Given the description of an element on the screen output the (x, y) to click on. 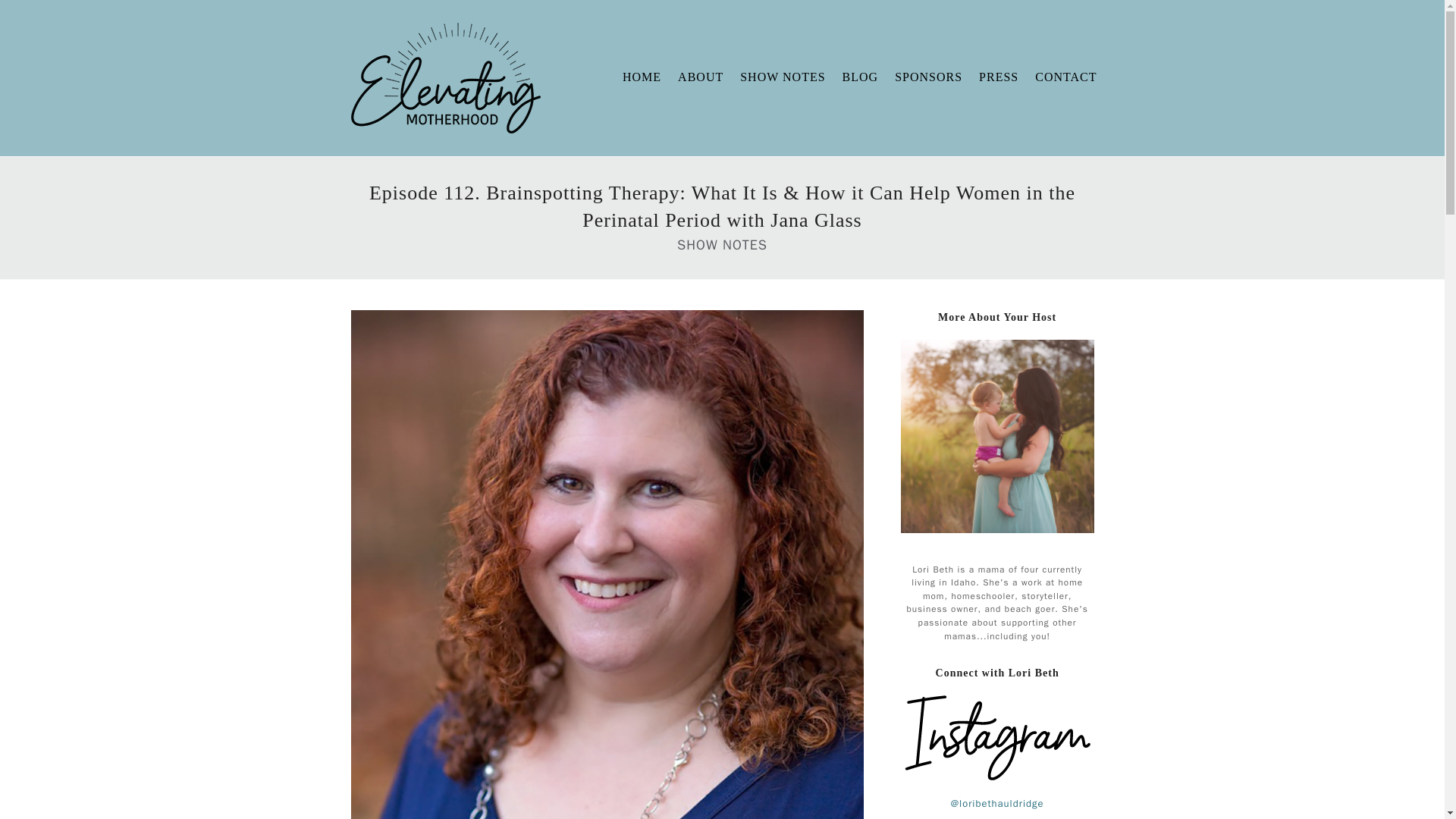
SHOW NOTES (782, 77)
CONTACT (1065, 77)
PRESS (998, 77)
HOME (641, 77)
SPONSORS (928, 77)
ABOUT (700, 77)
BLOG (860, 77)
